Given the description of an element on the screen output the (x, y) to click on. 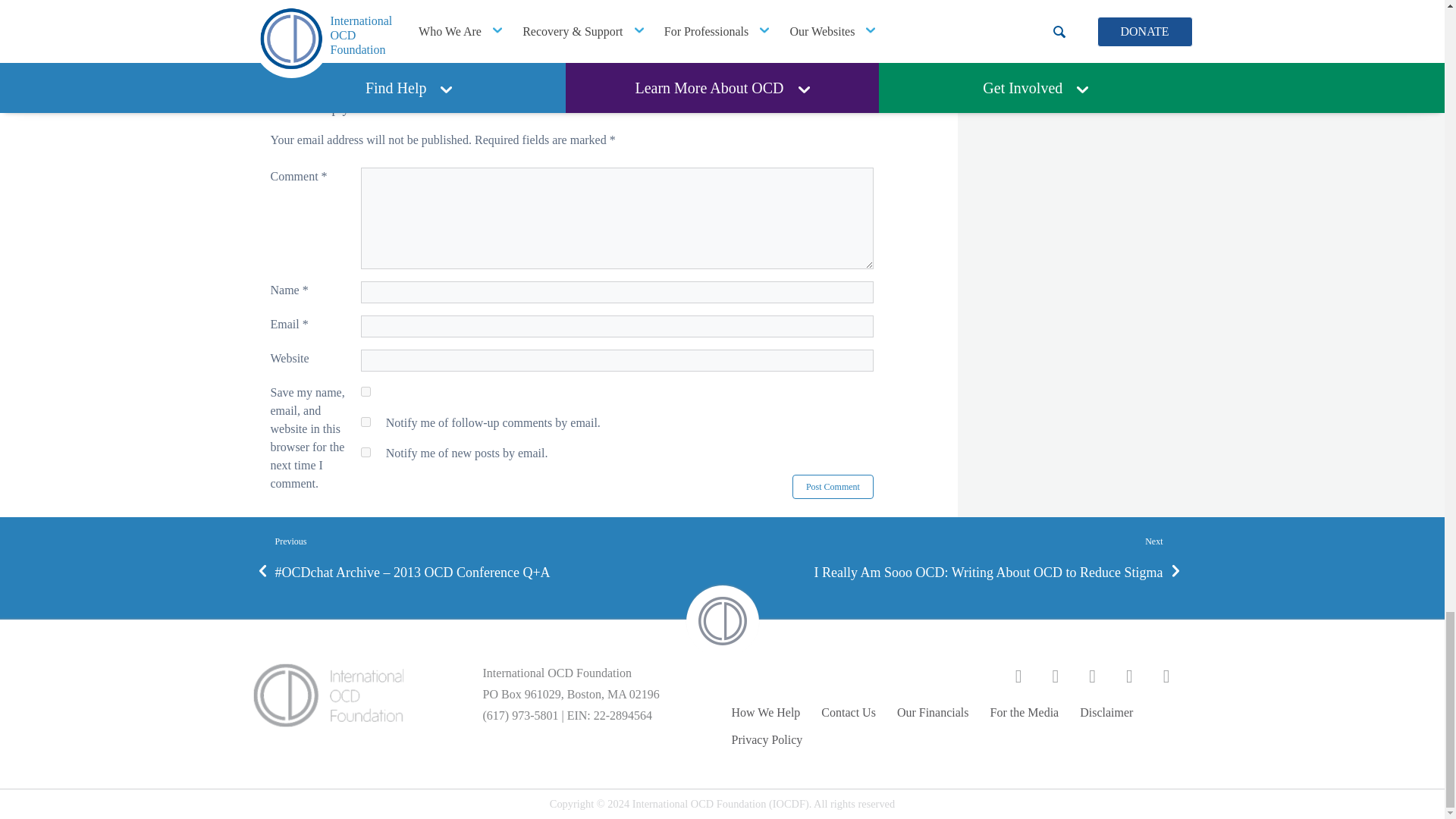
yes (366, 391)
Post Comment (832, 486)
subscribe (366, 421)
subscribe (366, 452)
